Given the description of an element on the screen output the (x, y) to click on. 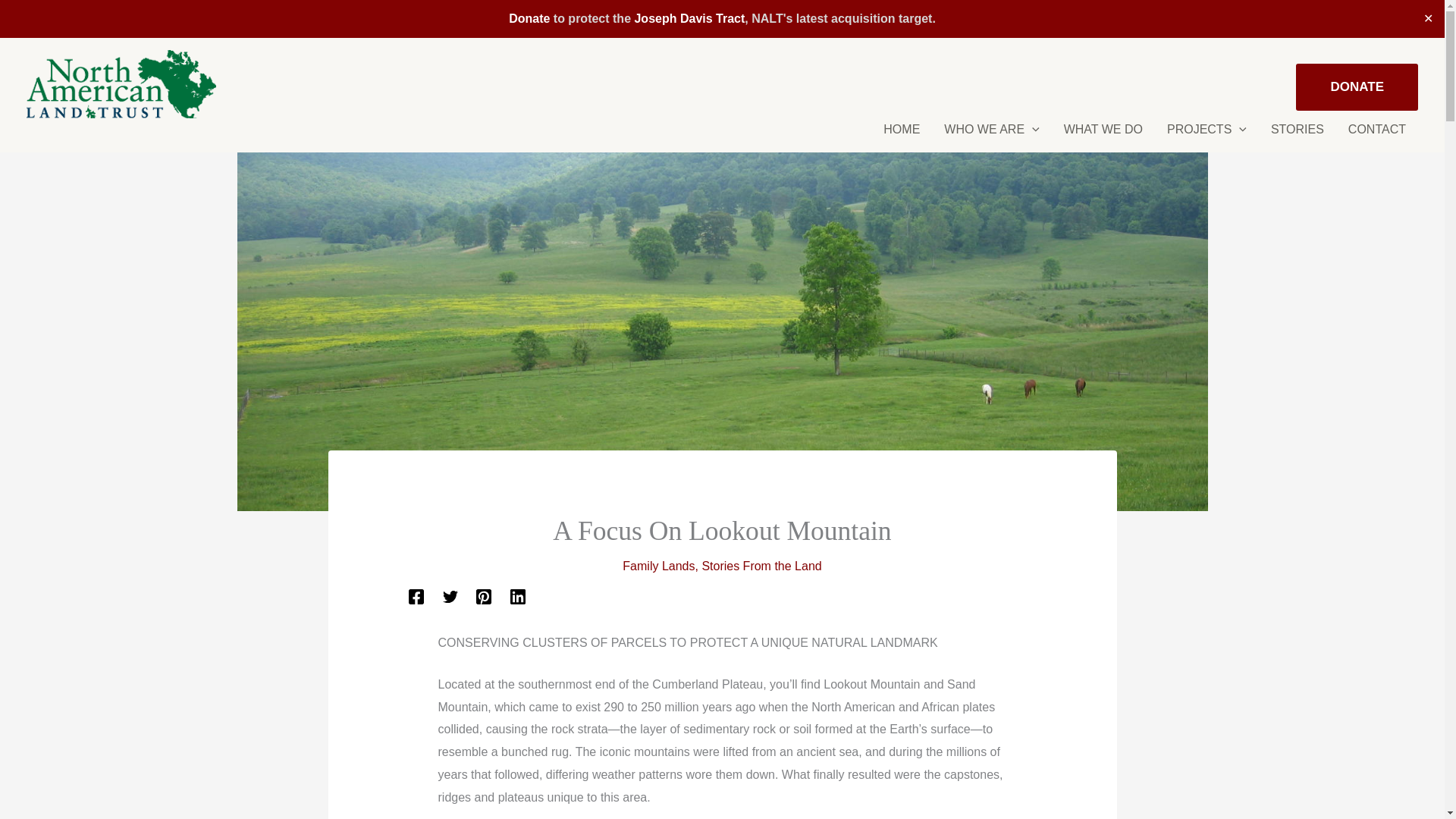
STORIES (1297, 134)
Donate (529, 18)
WHO WE ARE (991, 134)
PROJECTS (1206, 134)
WHAT WE DO (1102, 134)
DONATE (1356, 86)
HOME (900, 134)
CONTACT (1377, 134)
Joseph Davis Tract (688, 18)
